Given the description of an element on the screen output the (x, y) to click on. 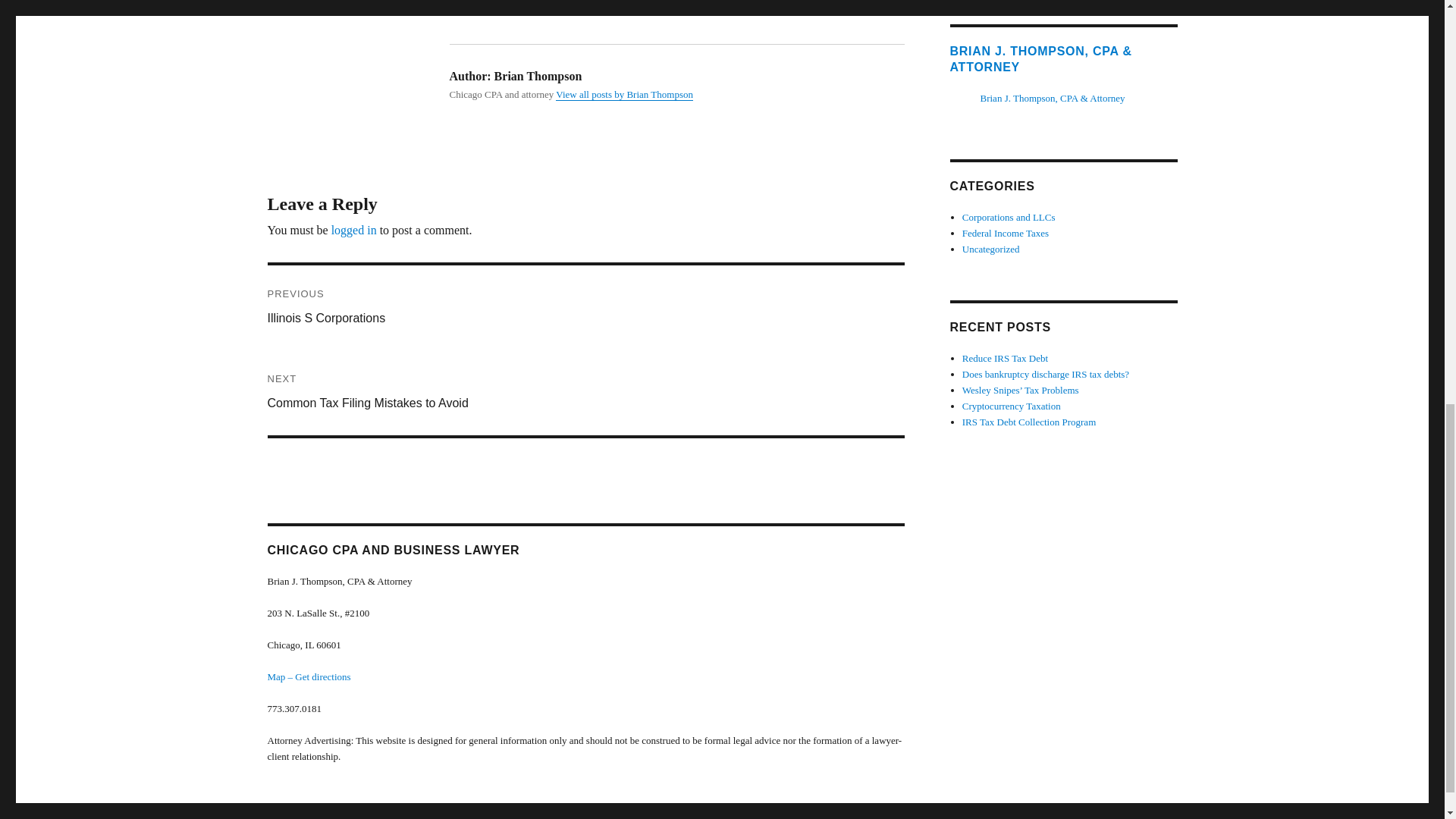
Click to share on Facebook (482, 2)
Uncategorized (991, 248)
logged in (354, 229)
Click to email a link to a friend (615, 2)
Corporations and LLCs (585, 307)
Federal Income Taxes (1008, 216)
View all posts by Brian Thompson (1005, 233)
LinkedIn (624, 93)
